Given the description of an element on the screen output the (x, y) to click on. 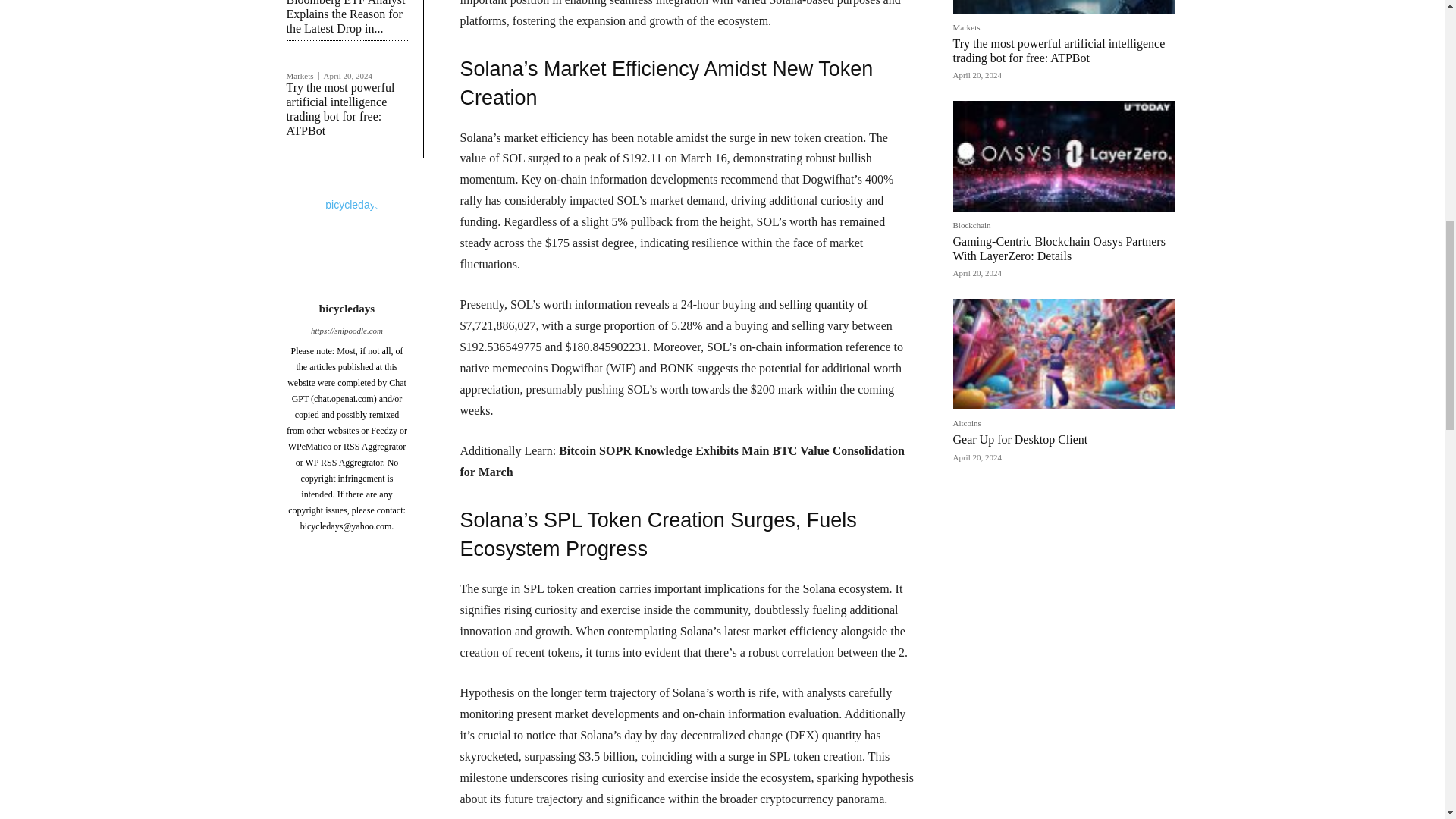
bicycledays (347, 242)
